Given the description of an element on the screen output the (x, y) to click on. 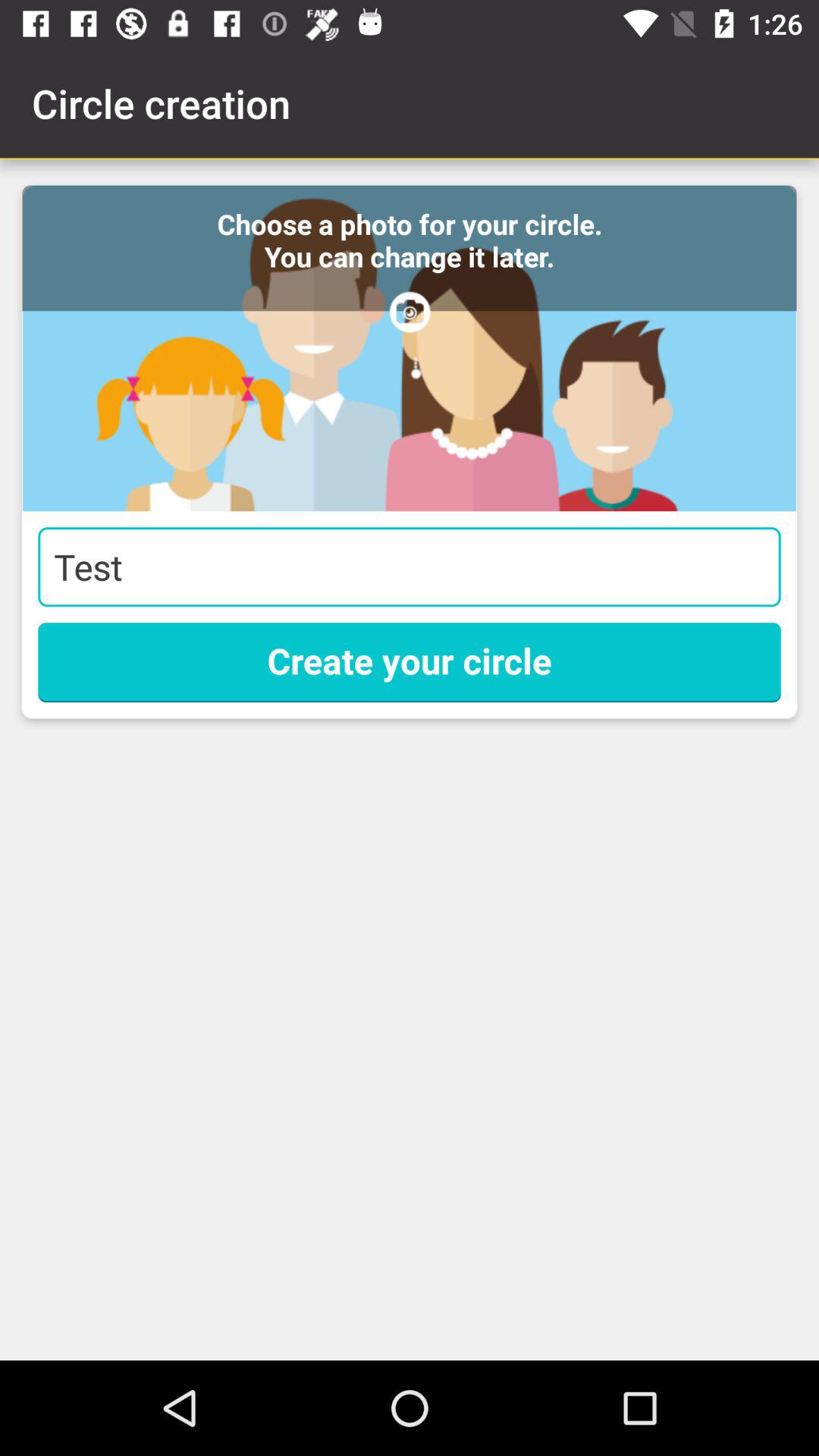
jump until the test item (409, 566)
